Given the description of an element on the screen output the (x, y) to click on. 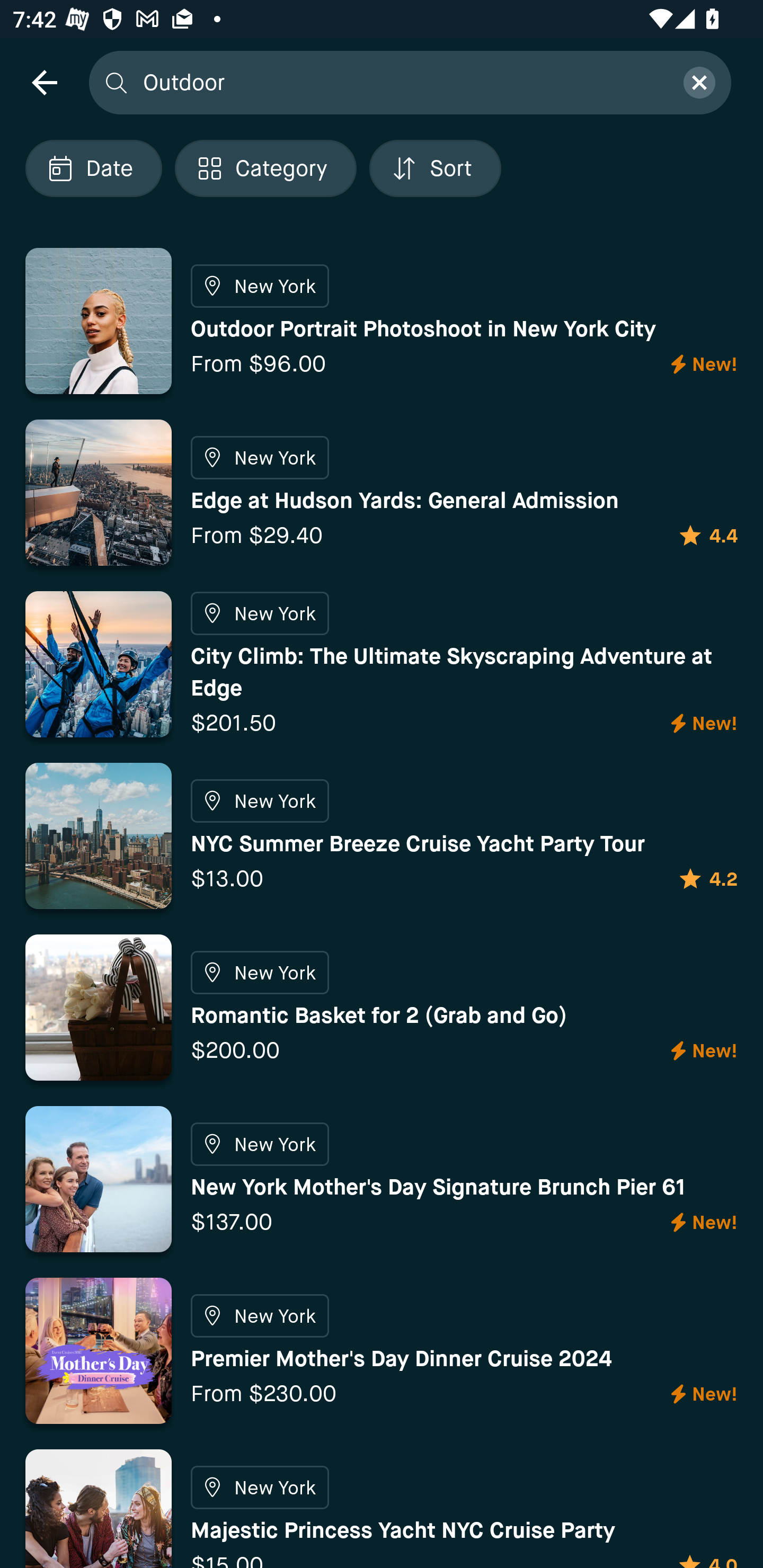
navigation icon (44, 81)
Outdoor (402, 81)
Localized description Date (93, 168)
Localized description Category (265, 168)
Localized description Sort (435, 168)
